Given the description of an element on the screen output the (x, y) to click on. 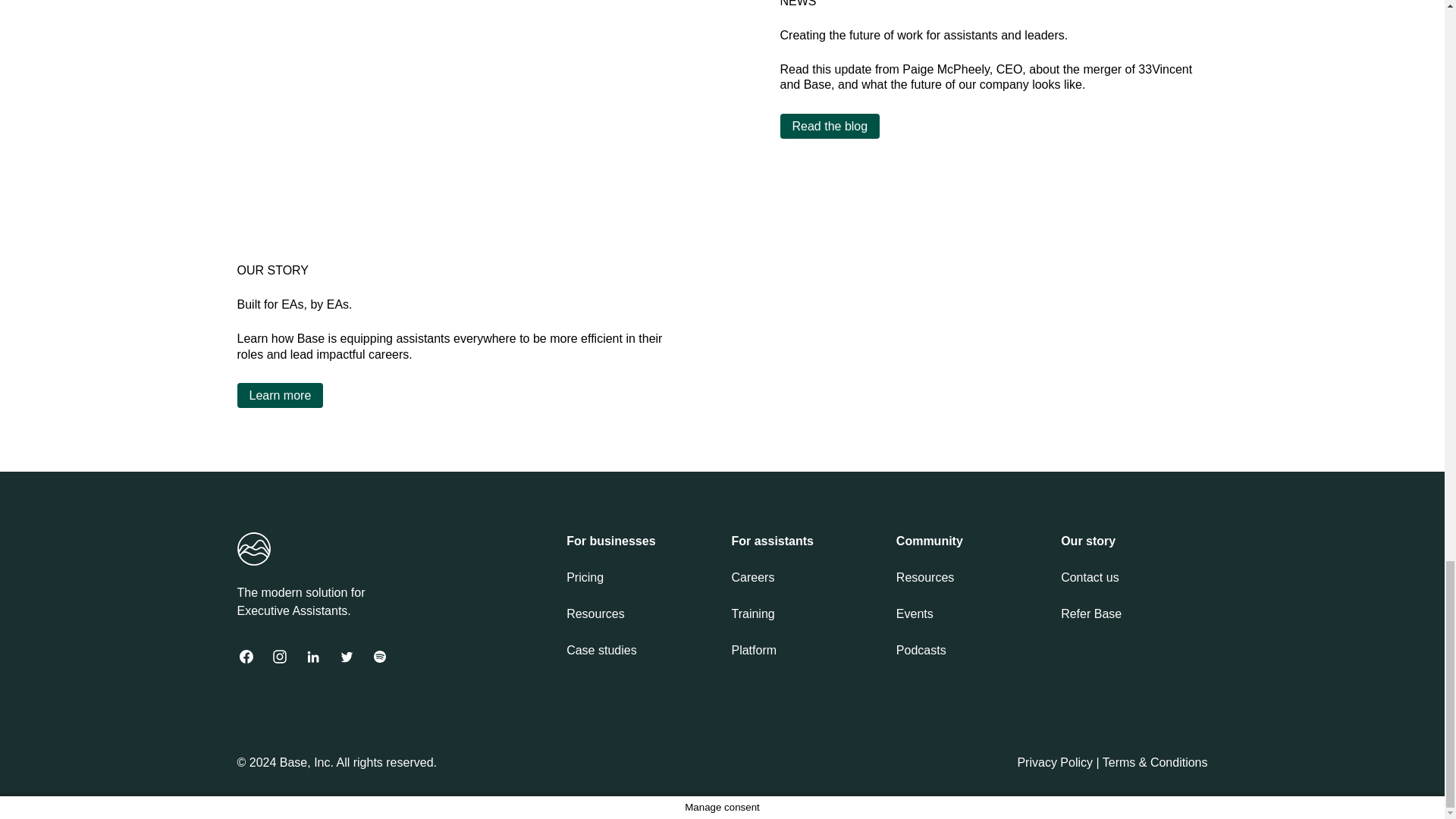
Learn more (279, 395)
Read the blog (828, 125)
Privacy Policy (1054, 762)
